Given the description of an element on the screen output the (x, y) to click on. 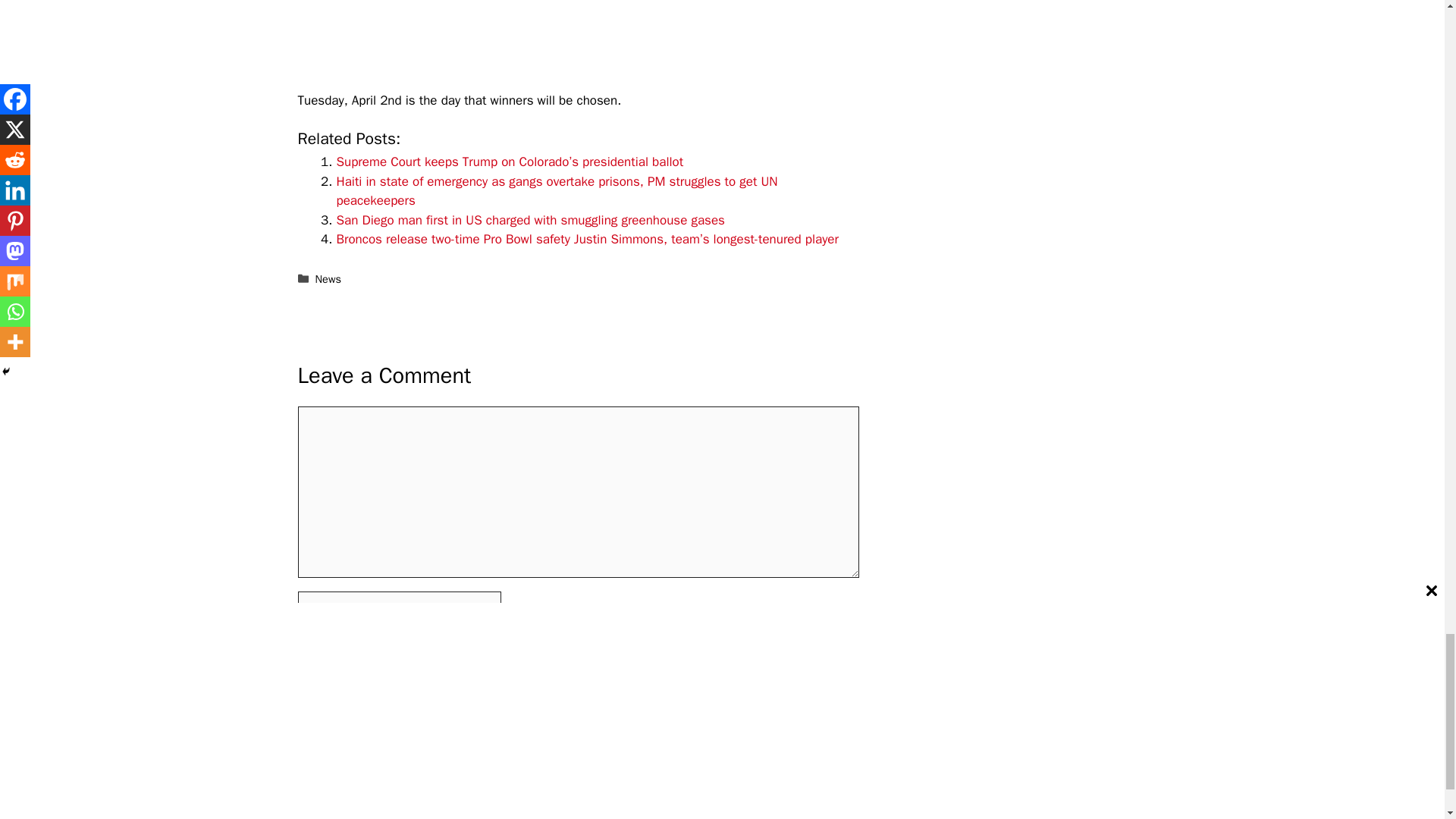
Post Comment (349, 777)
yes (302, 731)
